Given the description of an element on the screen output the (x, y) to click on. 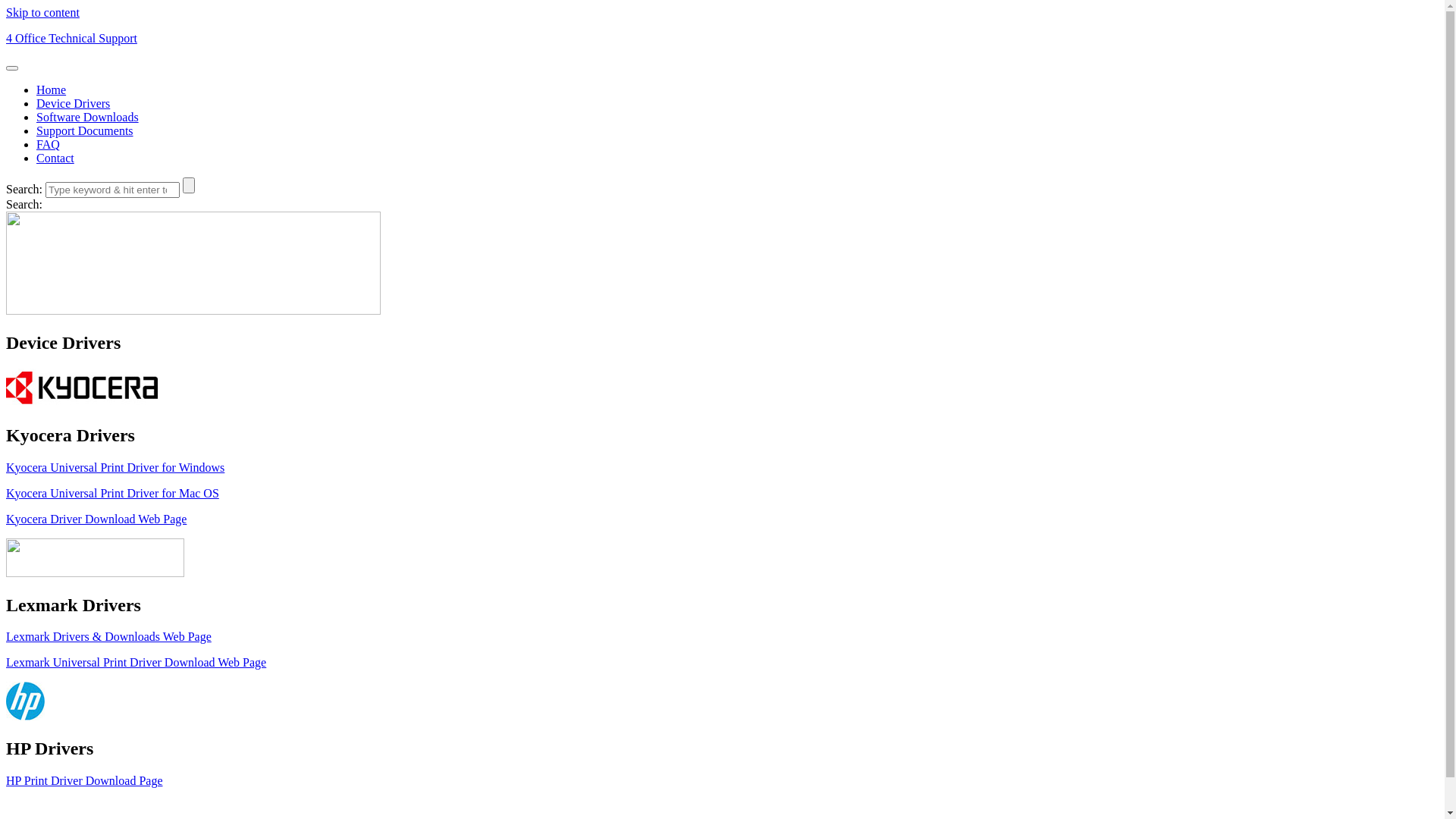
Lexmark Universal Print Driver Download Web Page Element type: text (136, 661)
Home Element type: text (50, 89)
Lexmark Drivers & Downloads Web Page Element type: text (108, 636)
Search for: Element type: hover (112, 189)
FAQ Element type: text (47, 144)
Contact Element type: text (55, 157)
Kyocera Driver Download Web Page Element type: text (96, 518)
4 Office Technical Support Element type: text (71, 37)
Kyocera Universal Print Driver for Mac OS Element type: text (112, 492)
Support Documents Element type: text (84, 130)
Software Downloads Element type: text (87, 116)
Skip to content Element type: text (42, 12)
Device Drivers Element type: text (72, 103)
HP Print Driver Download Page Element type: text (84, 780)
Kyocera Universal Print Driver for Windows Element type: text (115, 467)
